Given the description of an element on the screen output the (x, y) to click on. 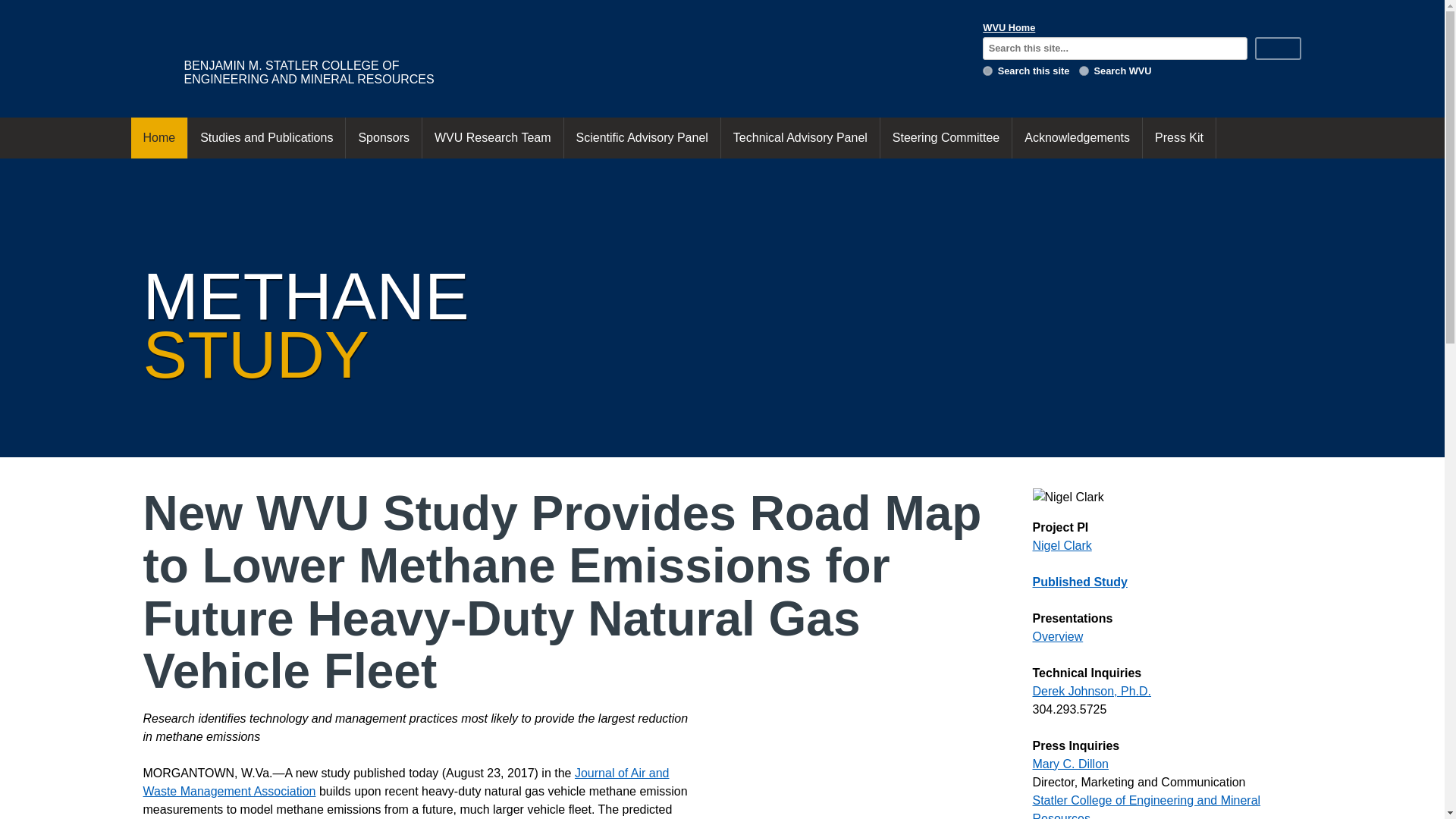
WVU Home (1008, 27)
Search (1278, 47)
Acknowledgements (1076, 137)
Press Kit (1178, 137)
Sponsors (384, 137)
Steering Committee (945, 137)
Studies and Publications (266, 137)
wvu.edu (1083, 71)
Derek Johnson, Ph.D. (1091, 690)
methanestudy.wvu.edu (987, 71)
